Given the description of an element on the screen output the (x, y) to click on. 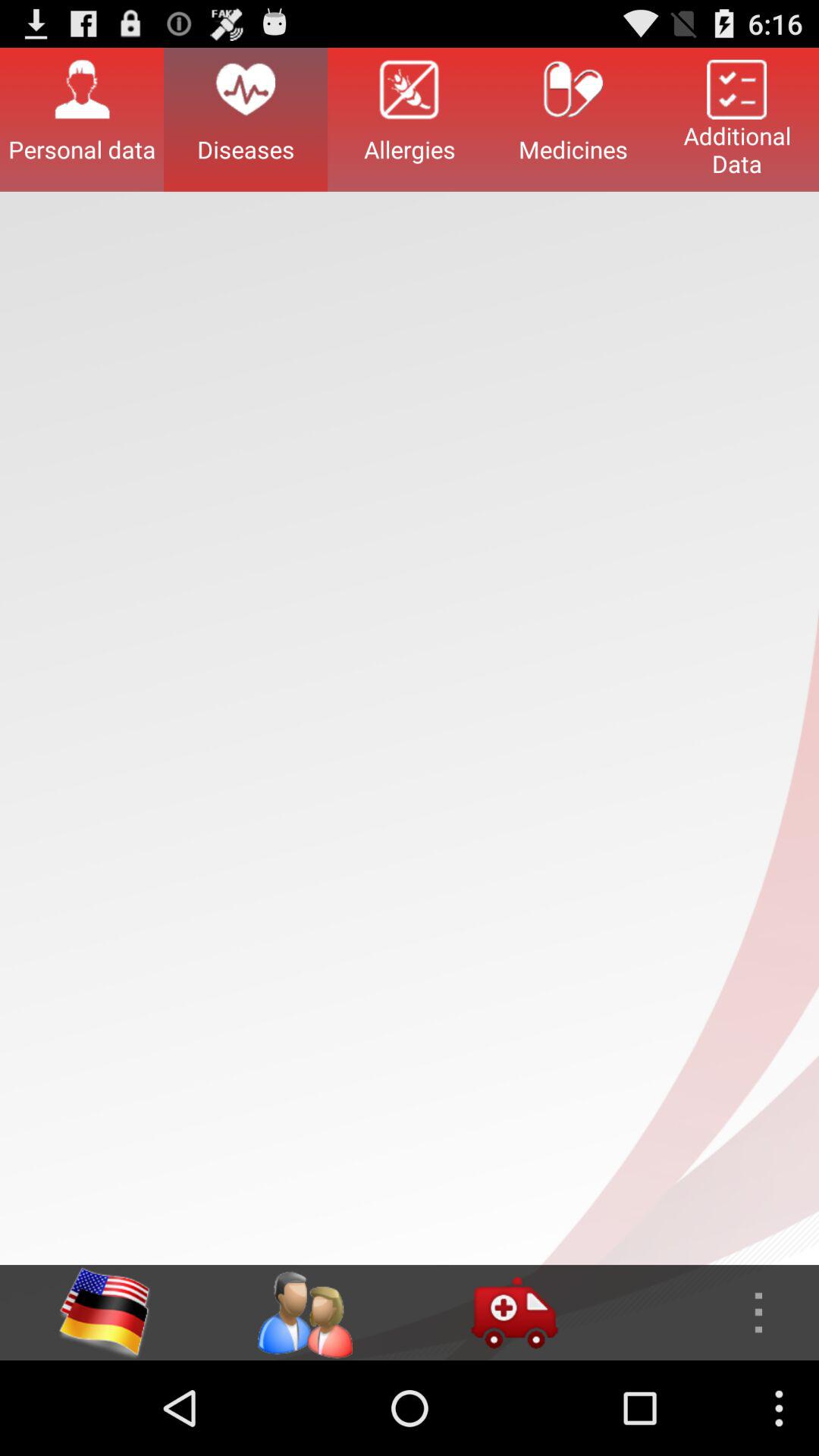
go to genders (304, 1312)
